Given the description of an element on the screen output the (x, y) to click on. 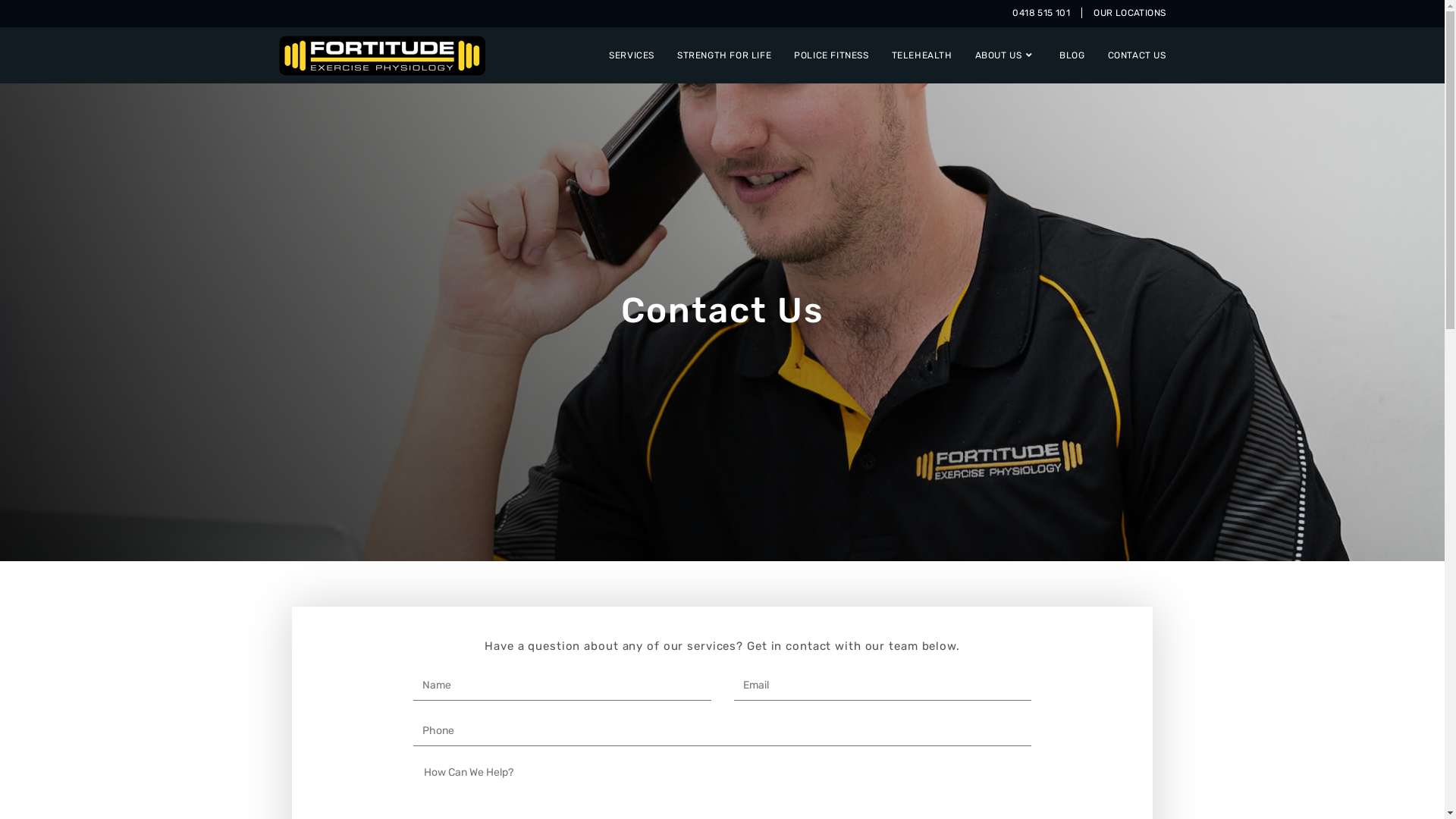
POLICE FITNESS Element type: text (830, 55)
0418 515 101 Element type: text (1041, 12)
BLOG Element type: text (1071, 55)
CONTACT US Element type: text (1136, 55)
SERVICES Element type: text (631, 55)
OUR LOCATIONS Element type: text (1123, 12)
STRENGTH FOR LIFE Element type: text (723, 55)
TELEHEALTH Element type: text (921, 55)
ABOUT US Element type: text (1005, 55)
